Given the description of an element on the screen output the (x, y) to click on. 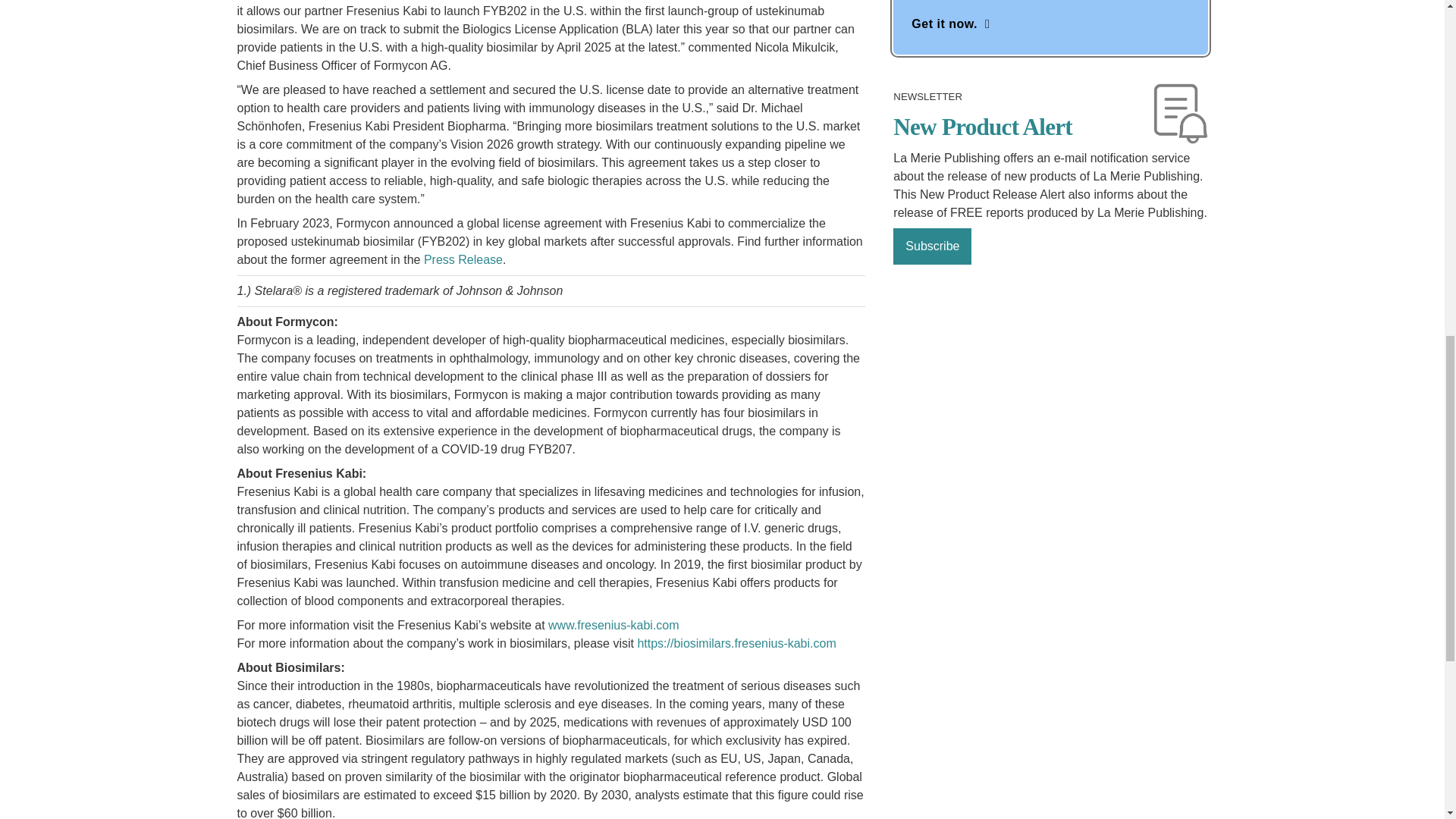
Press Release (462, 259)
www.fresenius-kabi.com (613, 625)
